Given the description of an element on the screen output the (x, y) to click on. 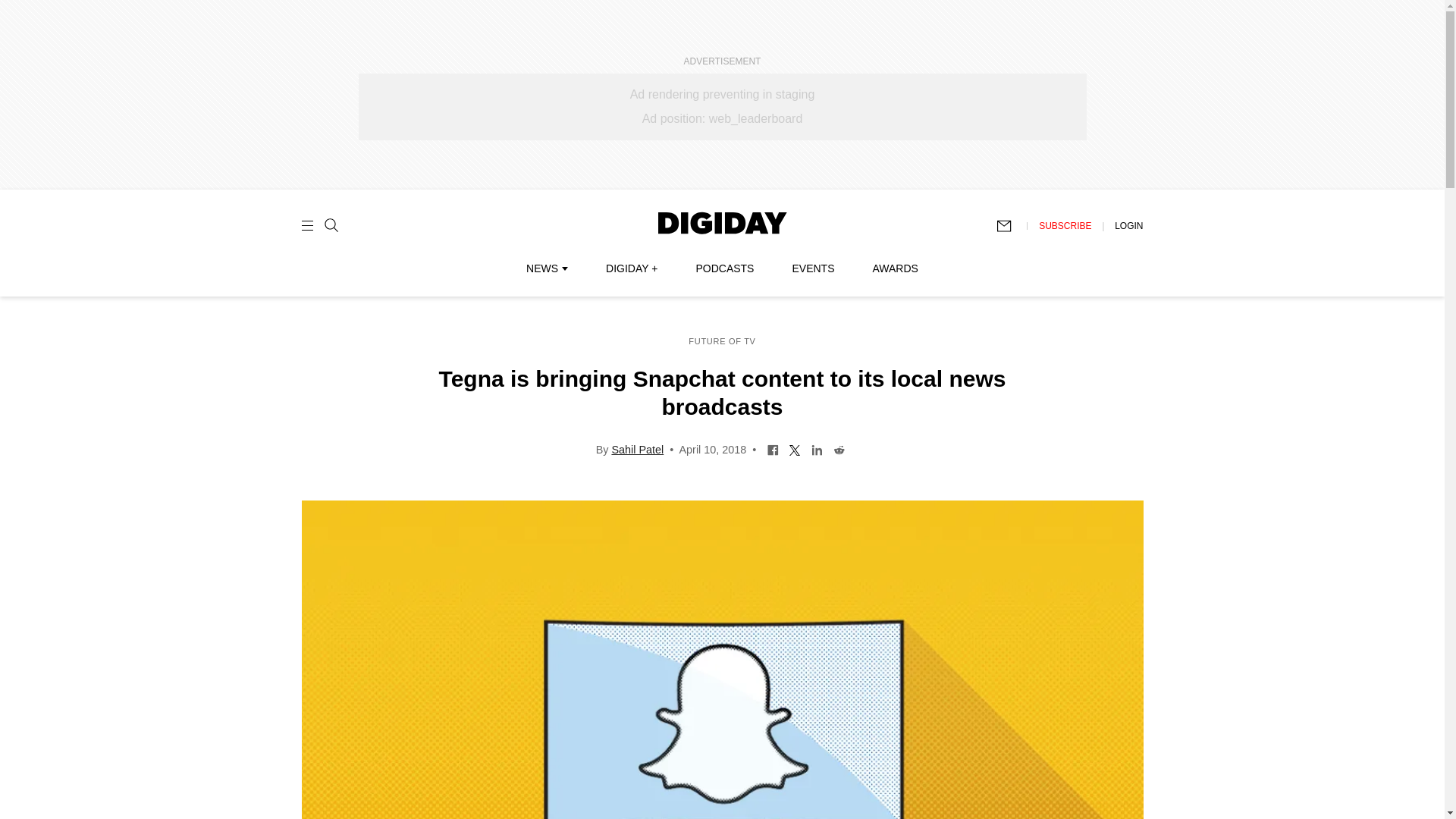
LOGIN (1128, 225)
Share on Twitter (795, 449)
Share on Facebook (772, 449)
PODCASTS (725, 267)
EVENTS (813, 267)
Share on LinkedIn (817, 449)
Share on Reddit (838, 449)
SUBSCRIBE (1064, 225)
Subscribe (1010, 225)
NEWS (546, 267)
AWARDS (894, 267)
